Given the description of an element on the screen output the (x, y) to click on. 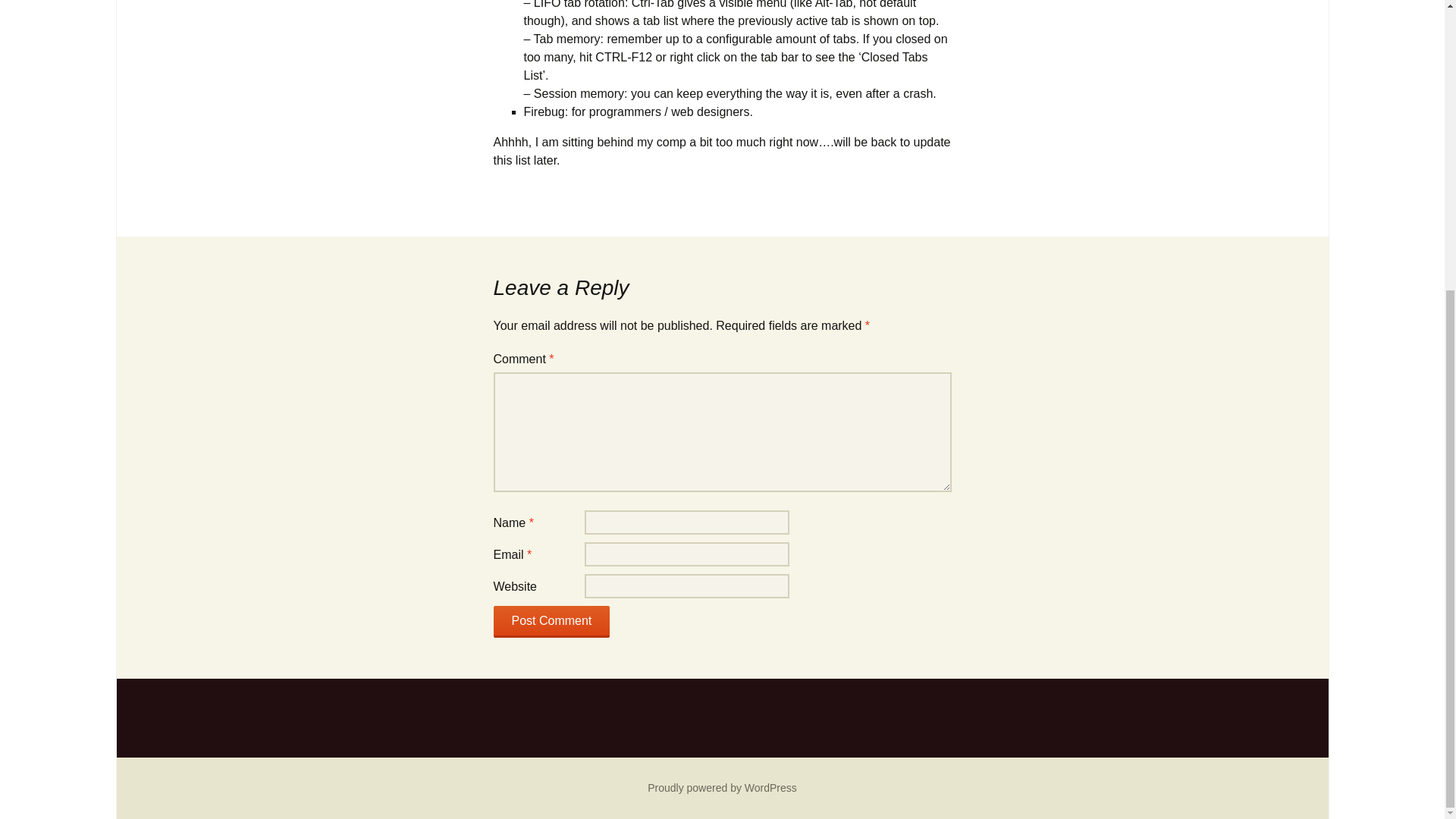
Post Comment (551, 622)
Post Comment (551, 622)
Proudly powered by WordPress (721, 787)
